Given the description of an element on the screen output the (x, y) to click on. 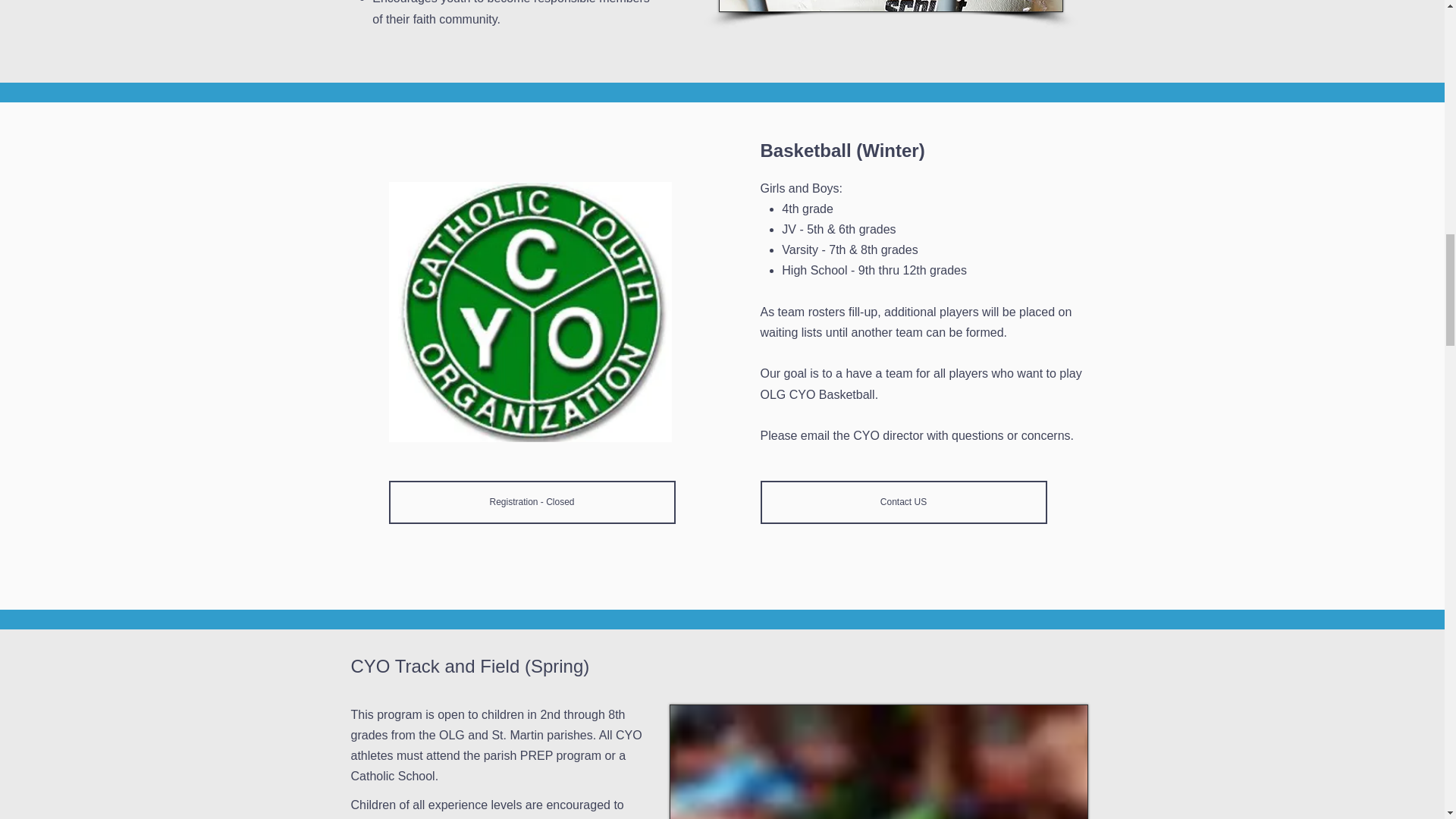
Contact US (903, 502)
